Given the description of an element on the screen output the (x, y) to click on. 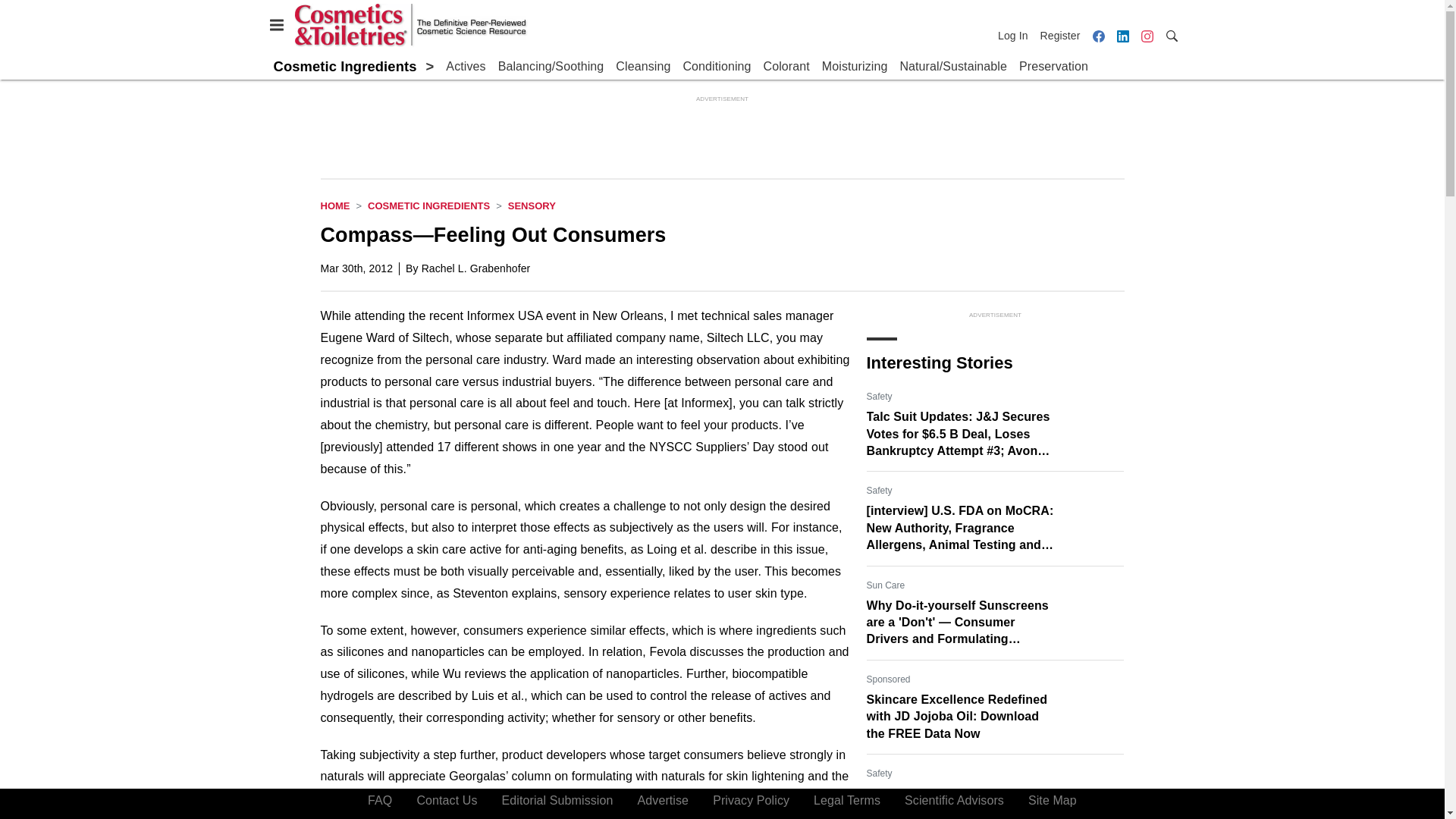
Preservation (1053, 66)
Cleansing (642, 66)
LinkedIn icon (1122, 36)
Sensory (532, 205)
Colorant (785, 66)
Facebook icon (1097, 35)
Register (1059, 35)
Cosmetic Ingredients (428, 205)
Log In (1015, 35)
Instagram icon (1146, 36)
